Given the description of an element on the screen output the (x, y) to click on. 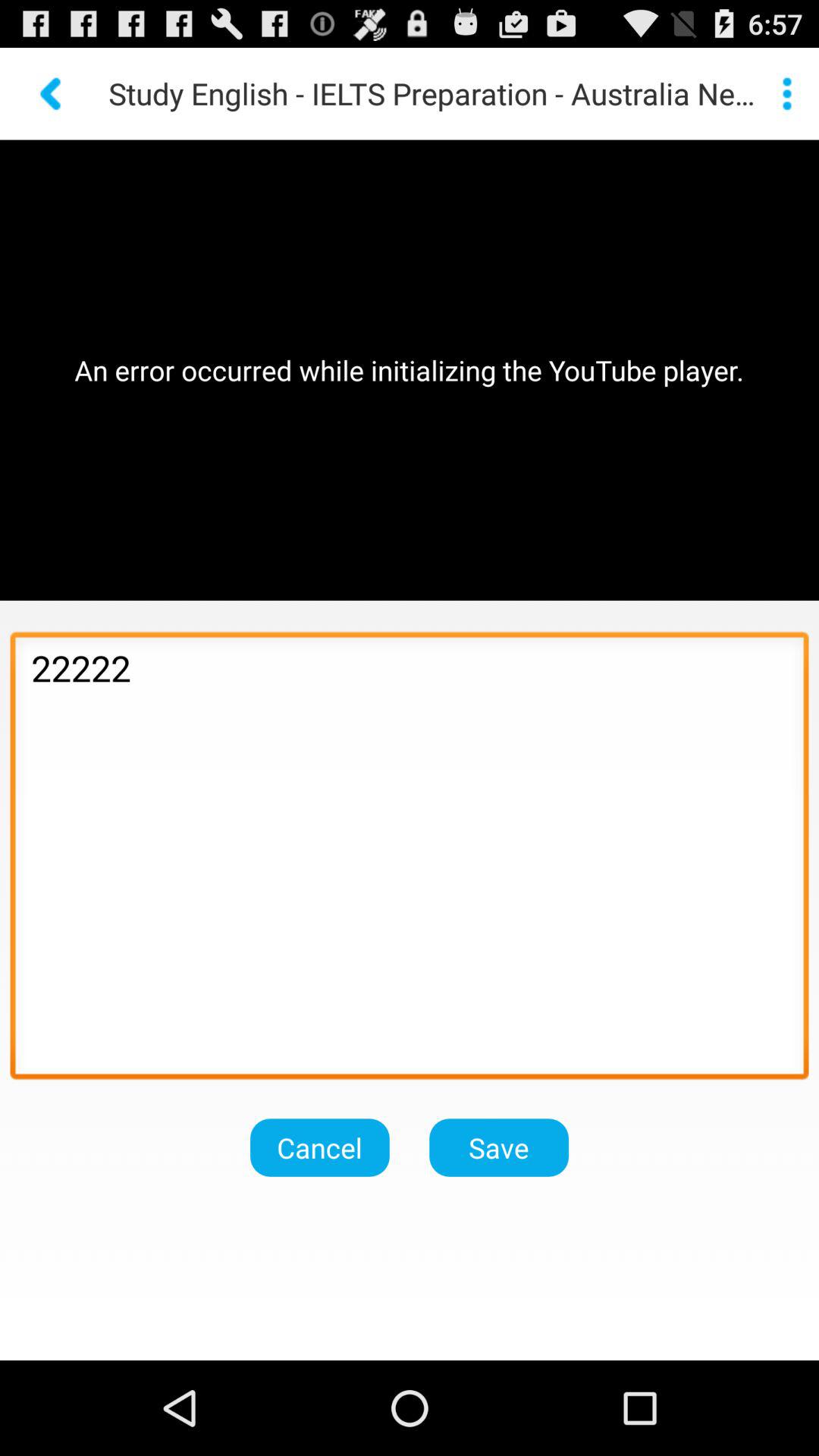
more info (787, 93)
